Given the description of an element on the screen output the (x, y) to click on. 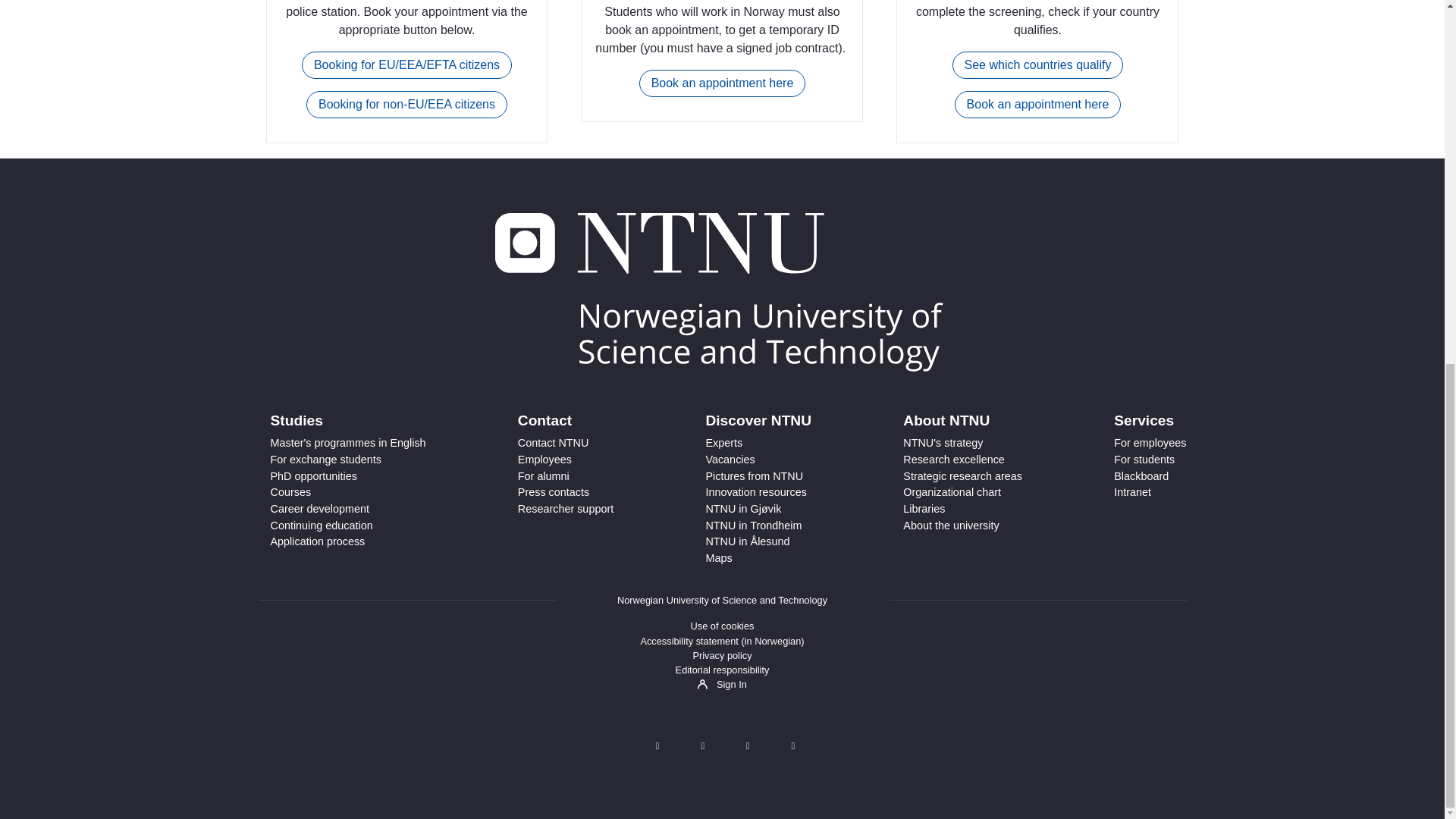
Facebooksider fra NTNU (702, 746)
NTNUs offisielle X-konto (657, 746)
NTNUs offisielle Instagramkonto (747, 746)
NTNUs Youtubekonto (792, 746)
